Given the description of an element on the screen output the (x, y) to click on. 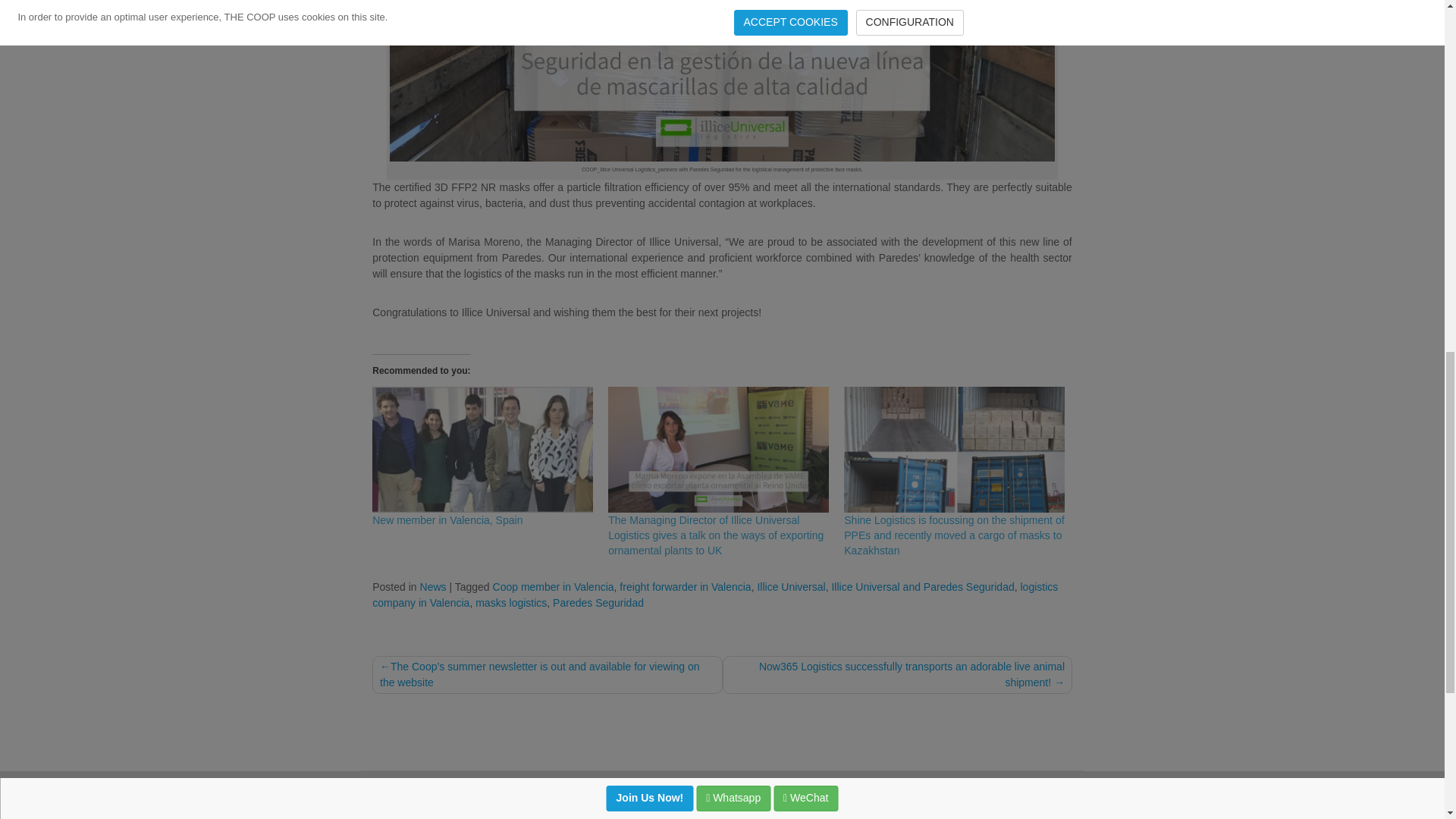
New member in Valencia, Spain (447, 520)
News (433, 586)
New member in Valencia, Spain (482, 449)
New member in Valencia, Spain (447, 520)
